Given the description of an element on the screen output the (x, y) to click on. 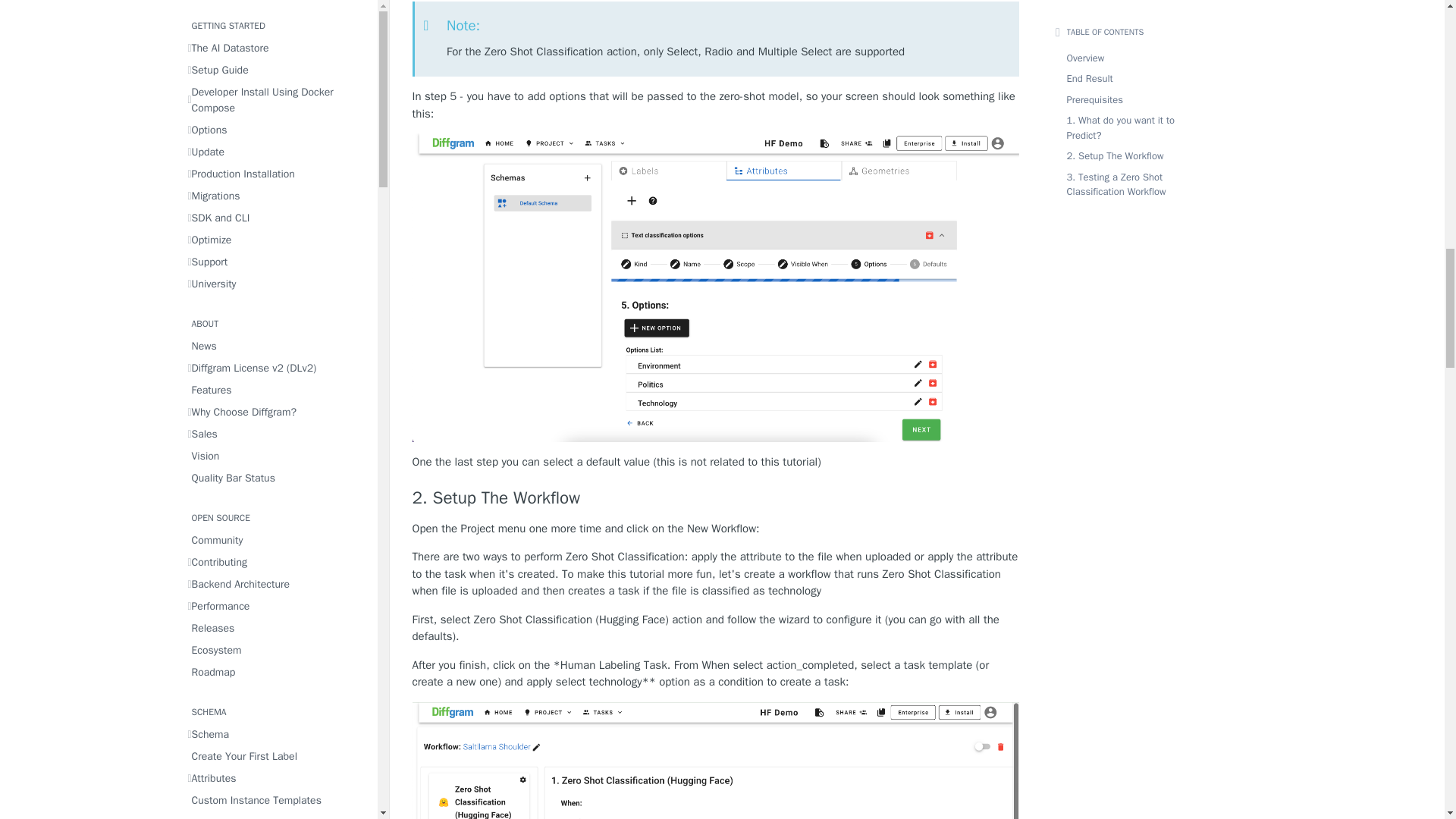
Screenshot 2022-07-15 at 11.52.32.png (715, 760)
2. Setup The Workflow (715, 497)
